Given the description of an element on the screen output the (x, y) to click on. 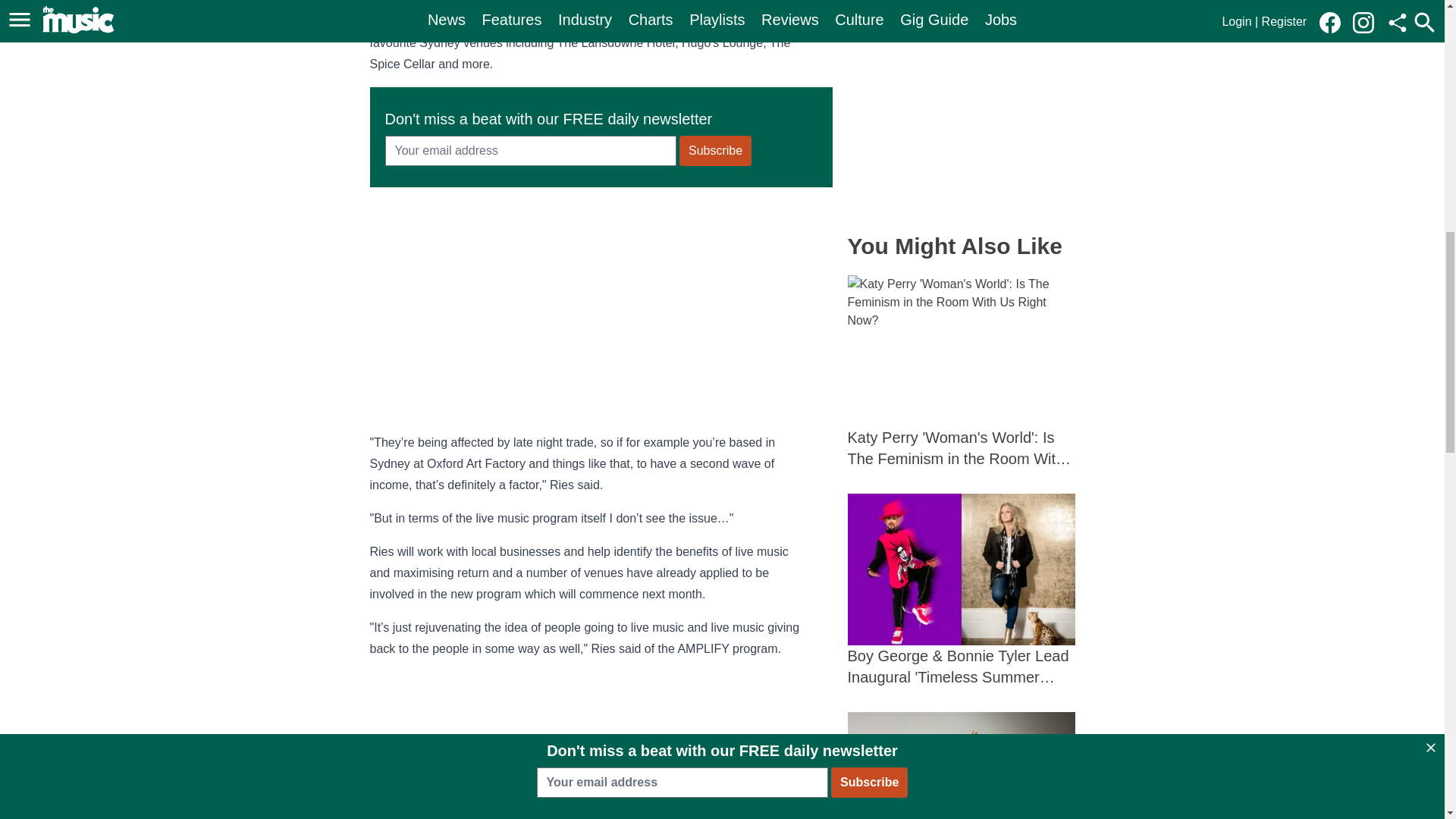
Subscribe (715, 150)
Tenacious D Cancel Remaining Australian Tour Dates (961, 765)
3rd party ad content (600, 308)
3rd party ad content (961, 108)
